Given the description of an element on the screen output the (x, y) to click on. 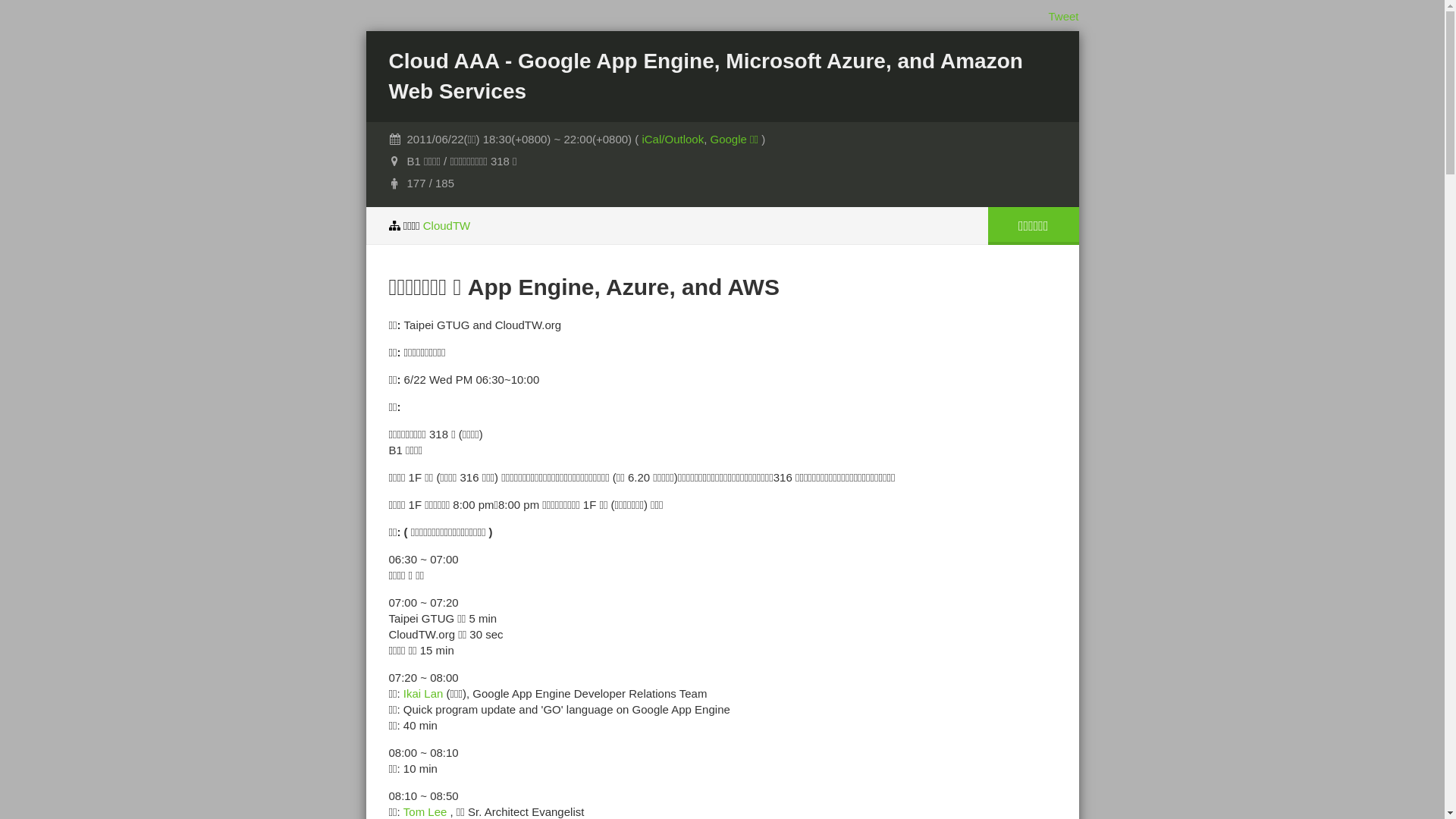
Ikai Lan Element type: text (423, 693)
Tom Lee Element type: text (425, 811)
iCal/Outlook Element type: text (672, 138)
CloudTW Element type: text (446, 225)
Tweet Element type: text (1063, 15)
